Given the description of an element on the screen output the (x, y) to click on. 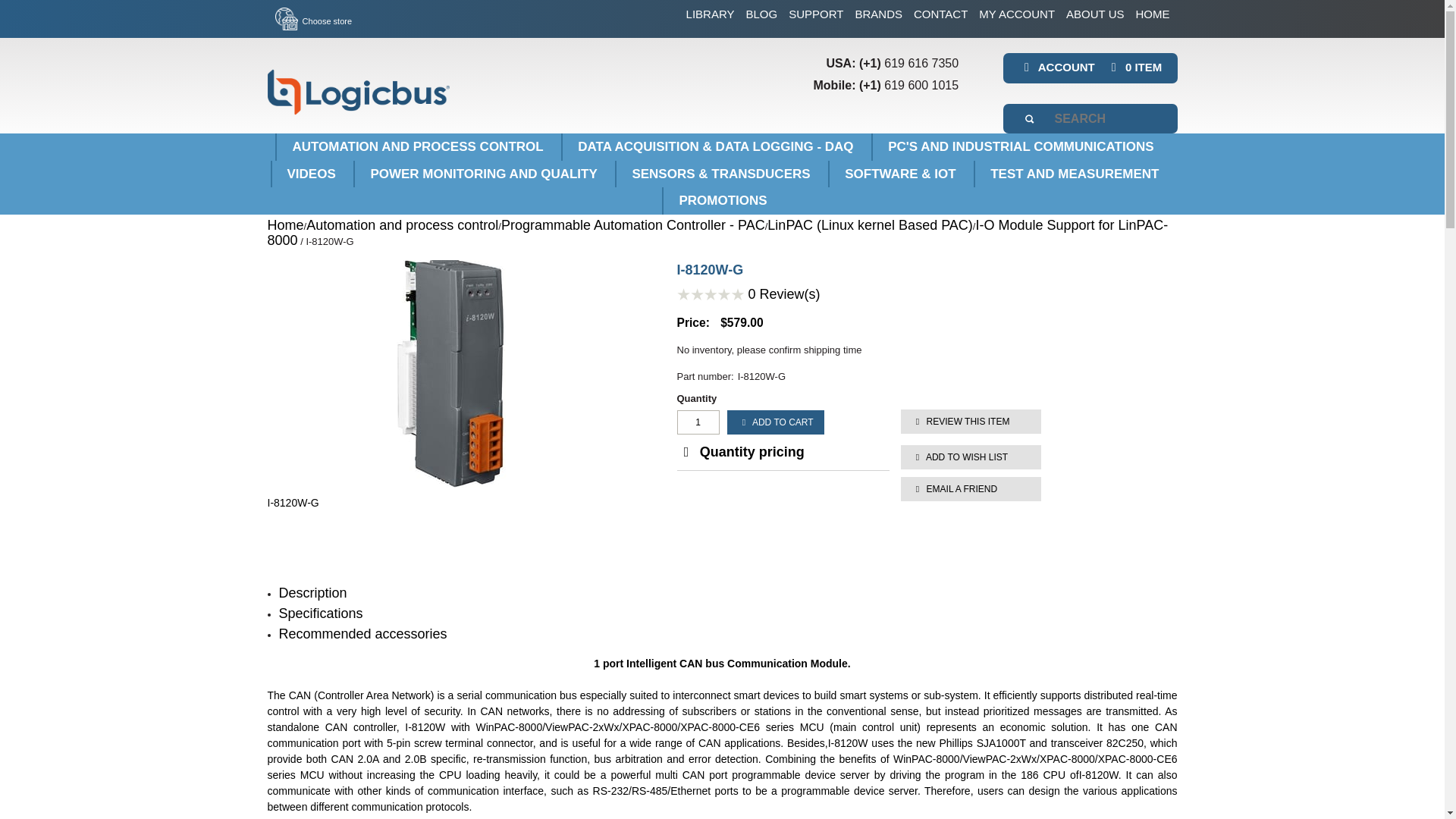
LIBRARY (710, 13)
BRANDS (878, 13)
1 (698, 422)
ACCOUNT (1055, 66)
BLOG (761, 13)
  Choose store (313, 21)
HOME (1152, 13)
I-8120W-G  (448, 503)
MY ACCOUNT (1016, 13)
SUPPORT (816, 13)
